Given the description of an element on the screen output the (x, y) to click on. 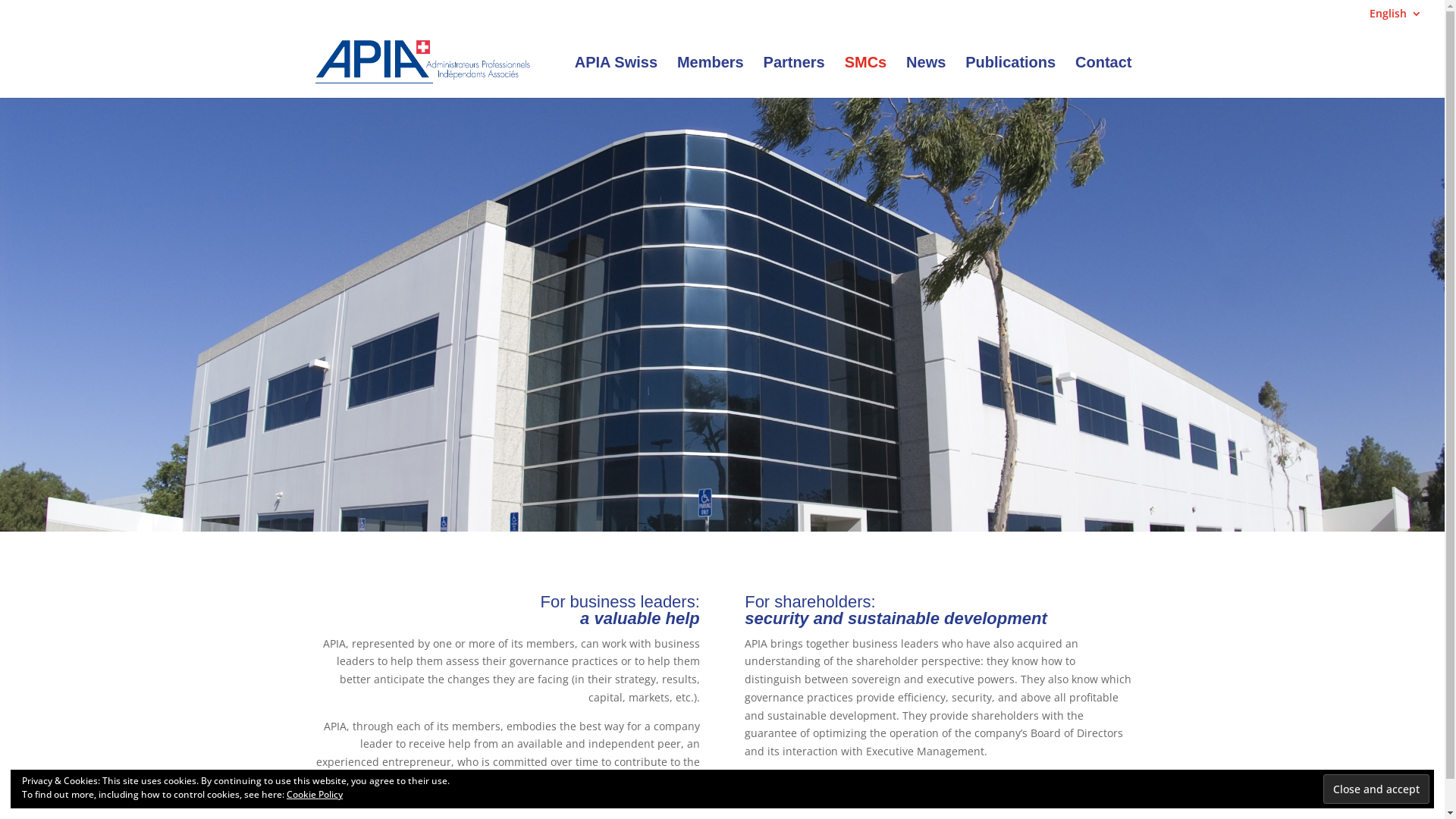
Publications Element type: text (1010, 76)
Partners Element type: text (794, 76)
SMCs Element type: text (865, 76)
APIA Swiss Element type: text (615, 76)
News Element type: text (925, 76)
Cookie Policy Element type: text (314, 793)
Members Element type: text (710, 76)
English Element type: text (1395, 16)
Contact Element type: text (1103, 76)
Close and accept Element type: text (1376, 788)
